Given the description of an element on the screen output the (x, y) to click on. 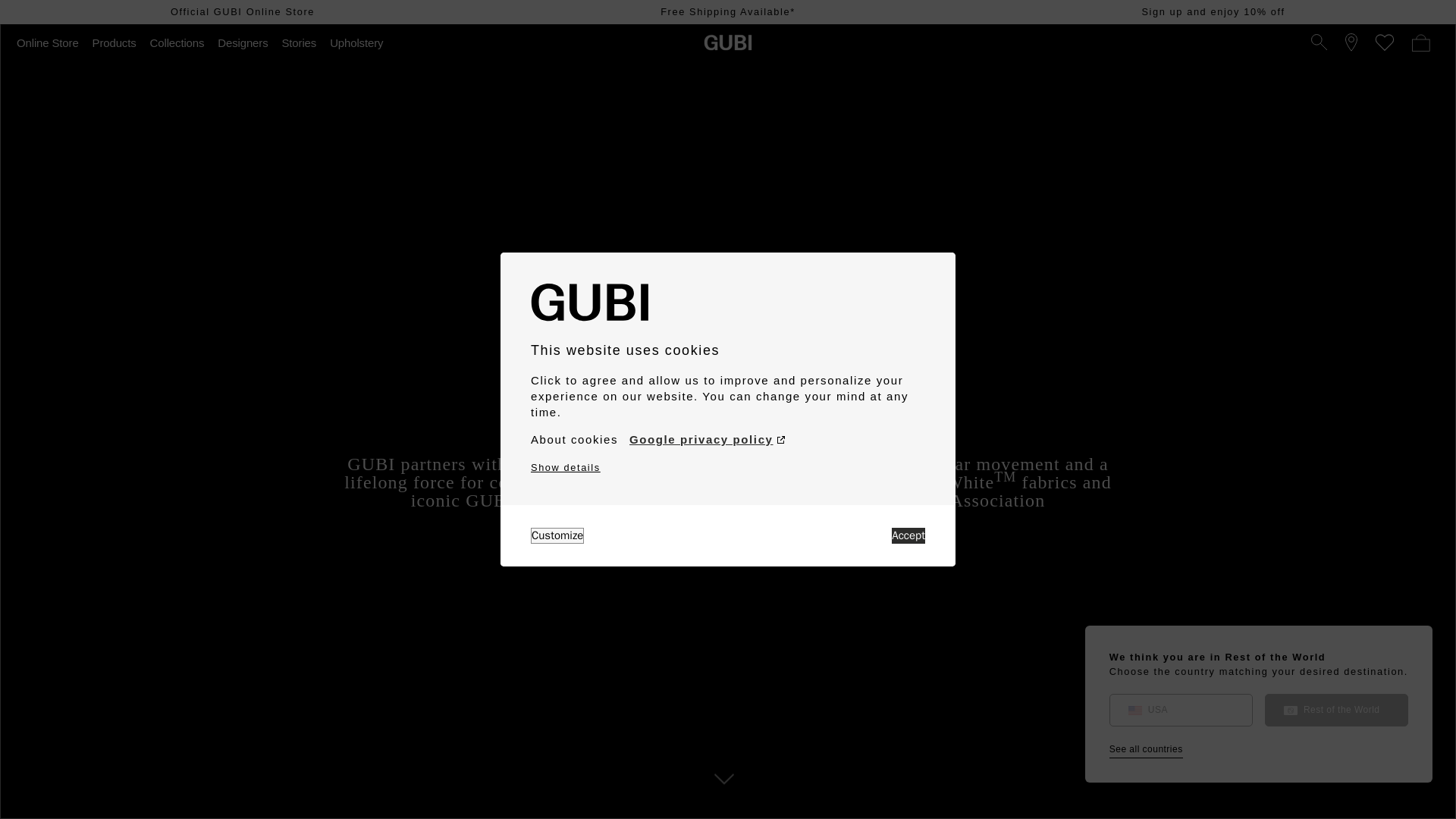
Google privacy policy (707, 439)
Show details (565, 467)
About cookies (574, 439)
